Given the description of an element on the screen output the (x, y) to click on. 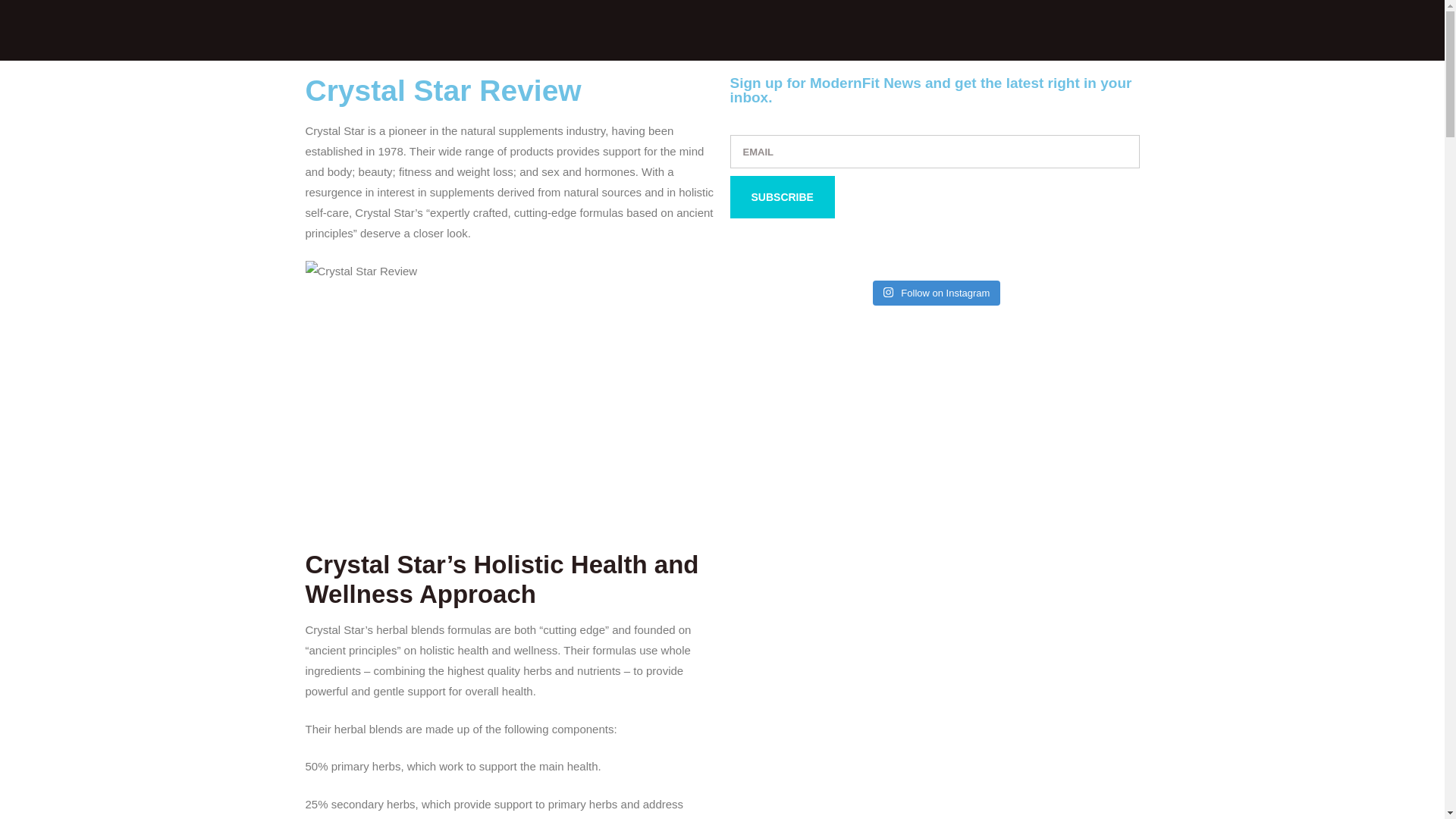
Subscribe (781, 197)
Follow on Instagram (936, 293)
Subscribe (781, 197)
